Given the description of an element on the screen output the (x, y) to click on. 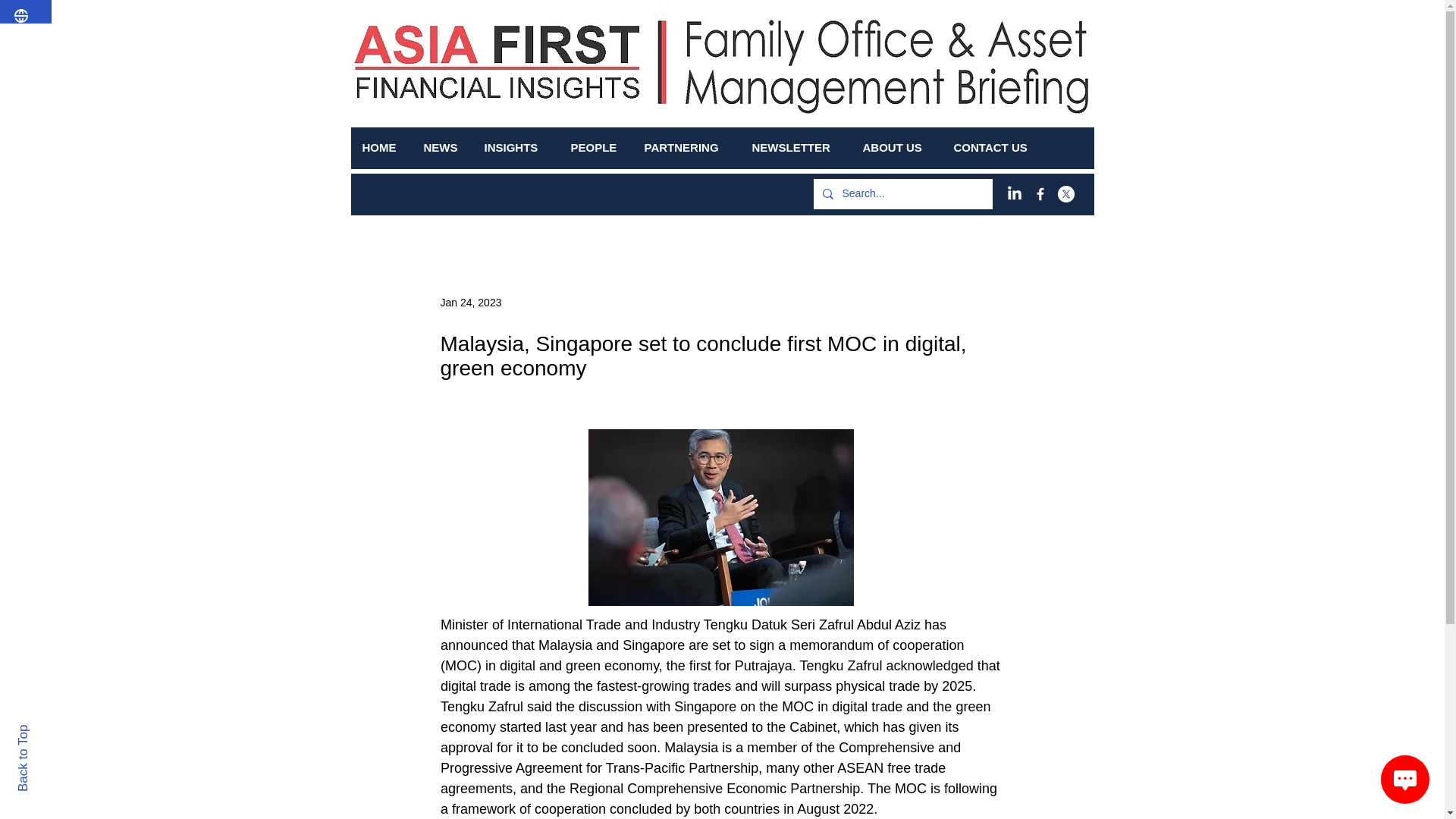
INSIGHTS (516, 147)
HOME (381, 147)
PEOPLE (596, 147)
Back to Top (49, 730)
Jan 24, 2023 (469, 301)
PARTNERING (685, 147)
CONTACT US (995, 147)
TopImageLogo - Masthead.jpg (872, 71)
ABOUT US (896, 147)
NEWSLETTER (794, 147)
